Given the description of an element on the screen output the (x, y) to click on. 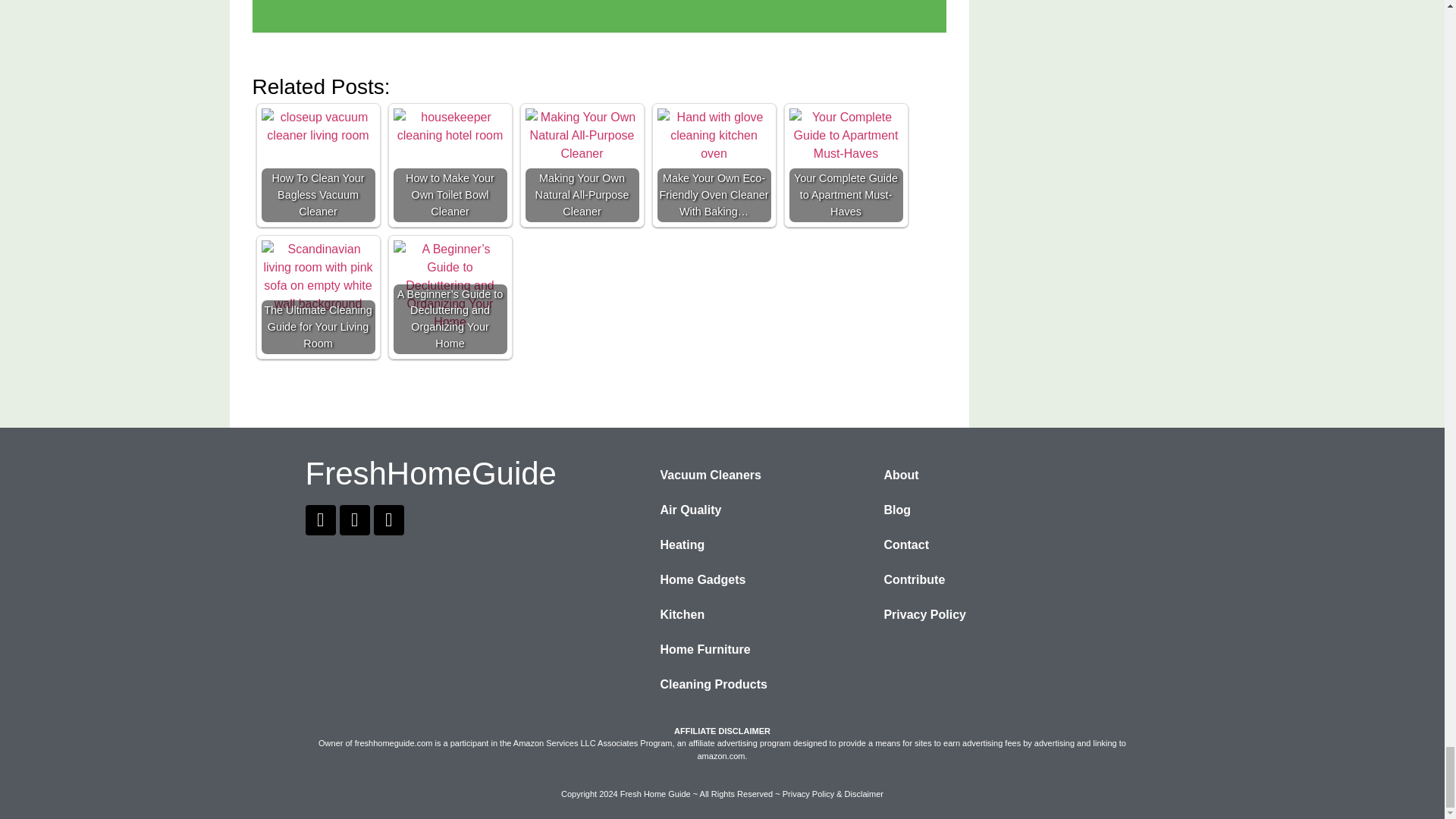
How To Clean Your Bagless Vacuum Cleaner (317, 126)
Your Complete Guide to Apartment Must-Haves (845, 135)
How to Make Your Own Toilet Bowl Cleaner (449, 126)
Making Your Own Natural All-Purpose Cleaner (581, 135)
The Ultimate Cleaning Guide for Your Living Room (317, 276)
A Beginner's Guide to Decluttering and Organizing Your Home (449, 285)
